Given the description of an element on the screen output the (x, y) to click on. 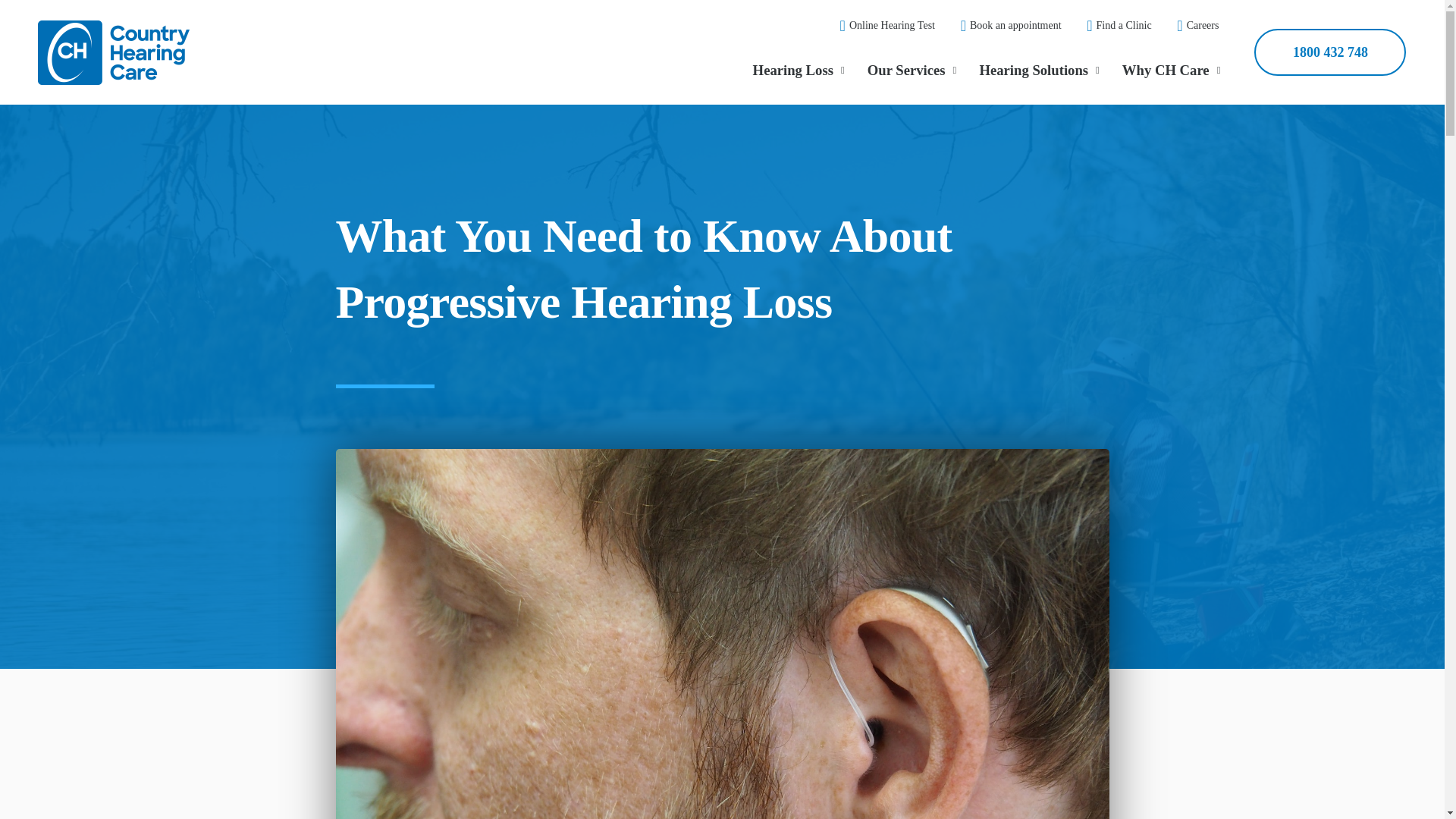
Why CH Care (1170, 70)
Book an appointment (1004, 25)
Hearing Solutions (1038, 70)
Careers (1191, 25)
Online Hearing Test (880, 25)
Find a Clinic (1112, 25)
Hearing Loss (798, 70)
Our Services (912, 70)
